Given the description of an element on the screen output the (x, y) to click on. 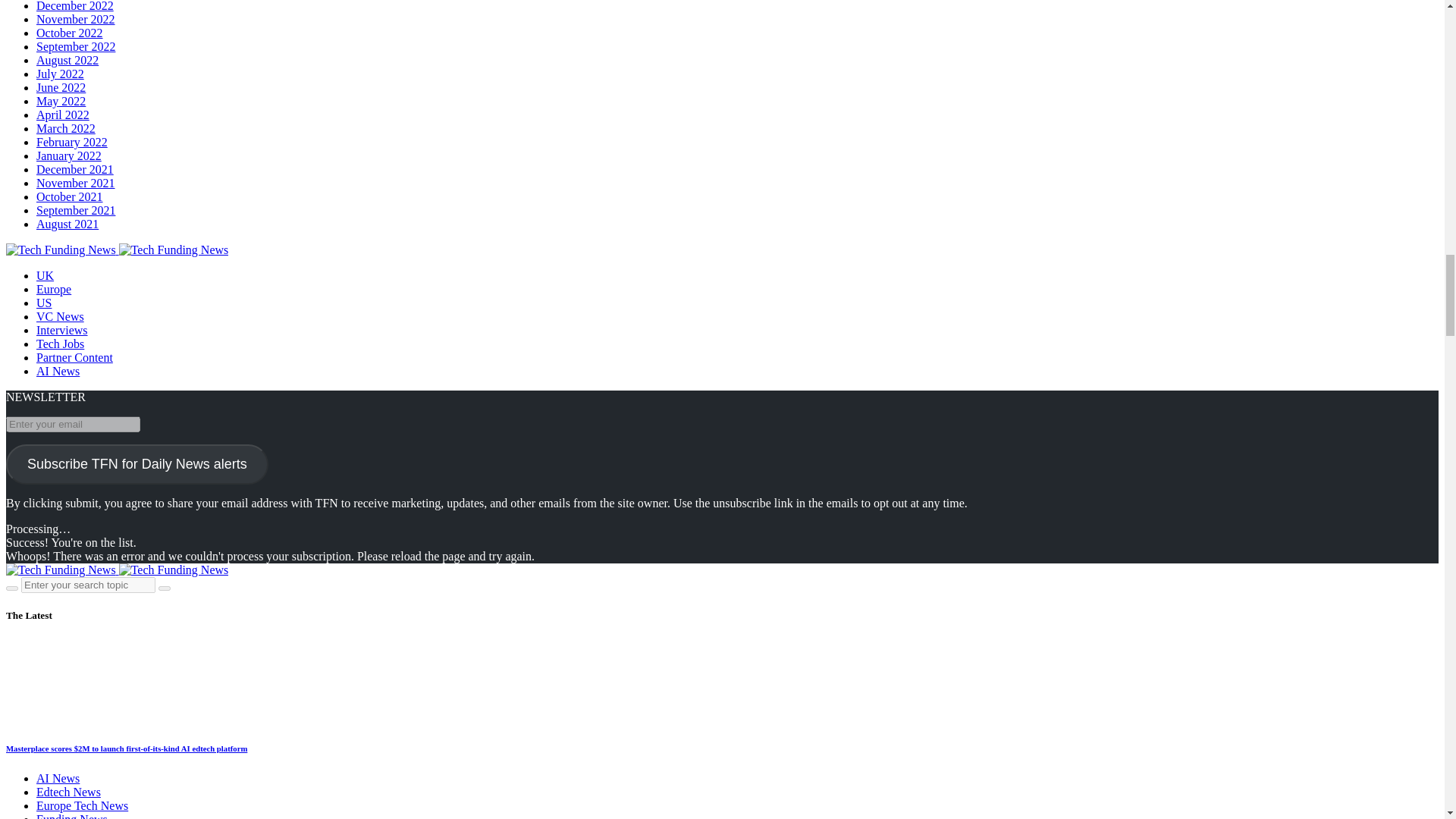
Enter your email (72, 424)
